Given the description of an element on the screen output the (x, y) to click on. 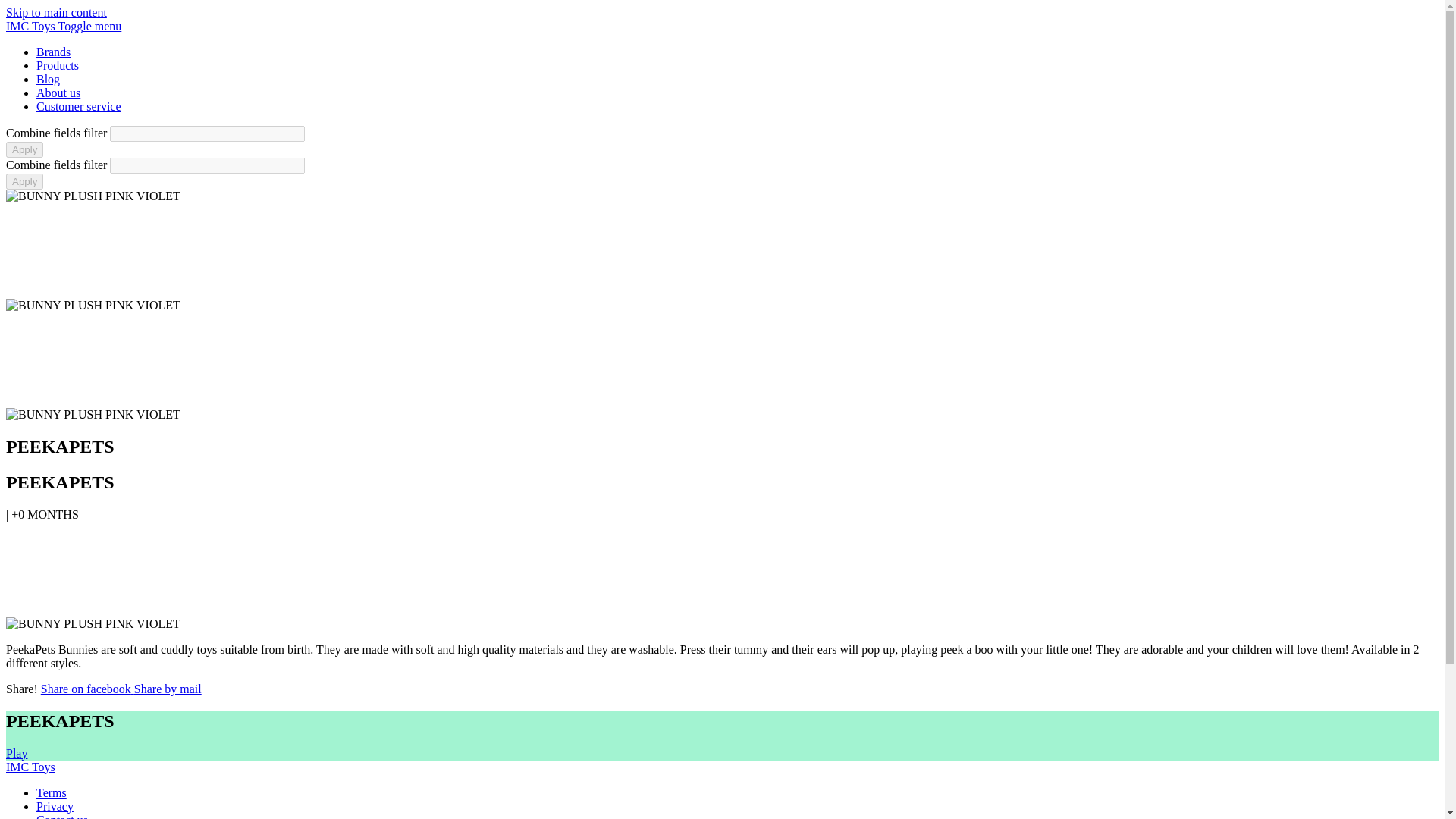
Brands (52, 51)
Skip to main content (55, 11)
Share by mail (167, 688)
Apply (24, 181)
Products (57, 65)
Blog Page (47, 78)
Blog (47, 78)
IMC Toys (31, 25)
Privacy (55, 806)
Share by mail (167, 688)
Customer service (78, 106)
Terms (51, 792)
Apply (24, 149)
Toggle menu (90, 25)
Contact us (61, 816)
